Given the description of an element on the screen output the (x, y) to click on. 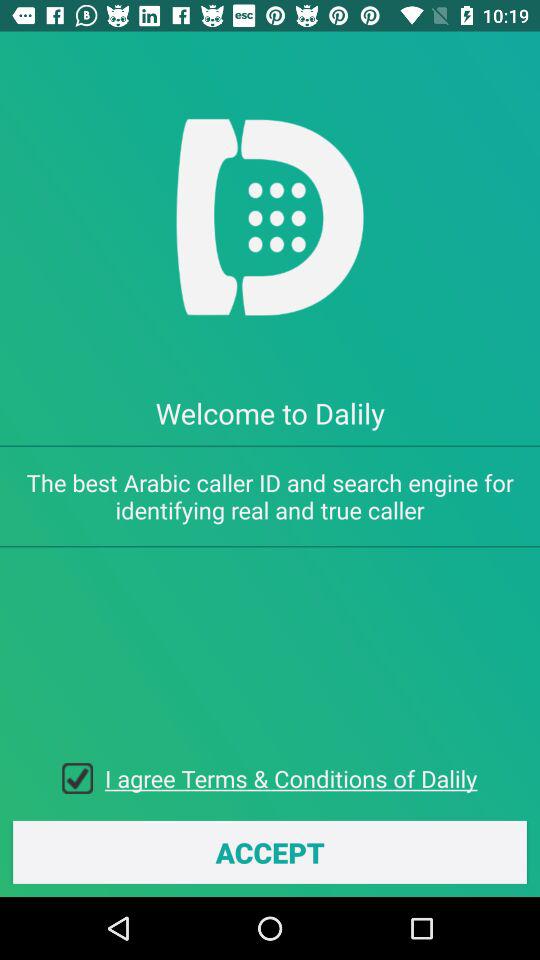
launch the icon to the left of the i agree terms icon (83, 778)
